Given the description of an element on the screen output the (x, y) to click on. 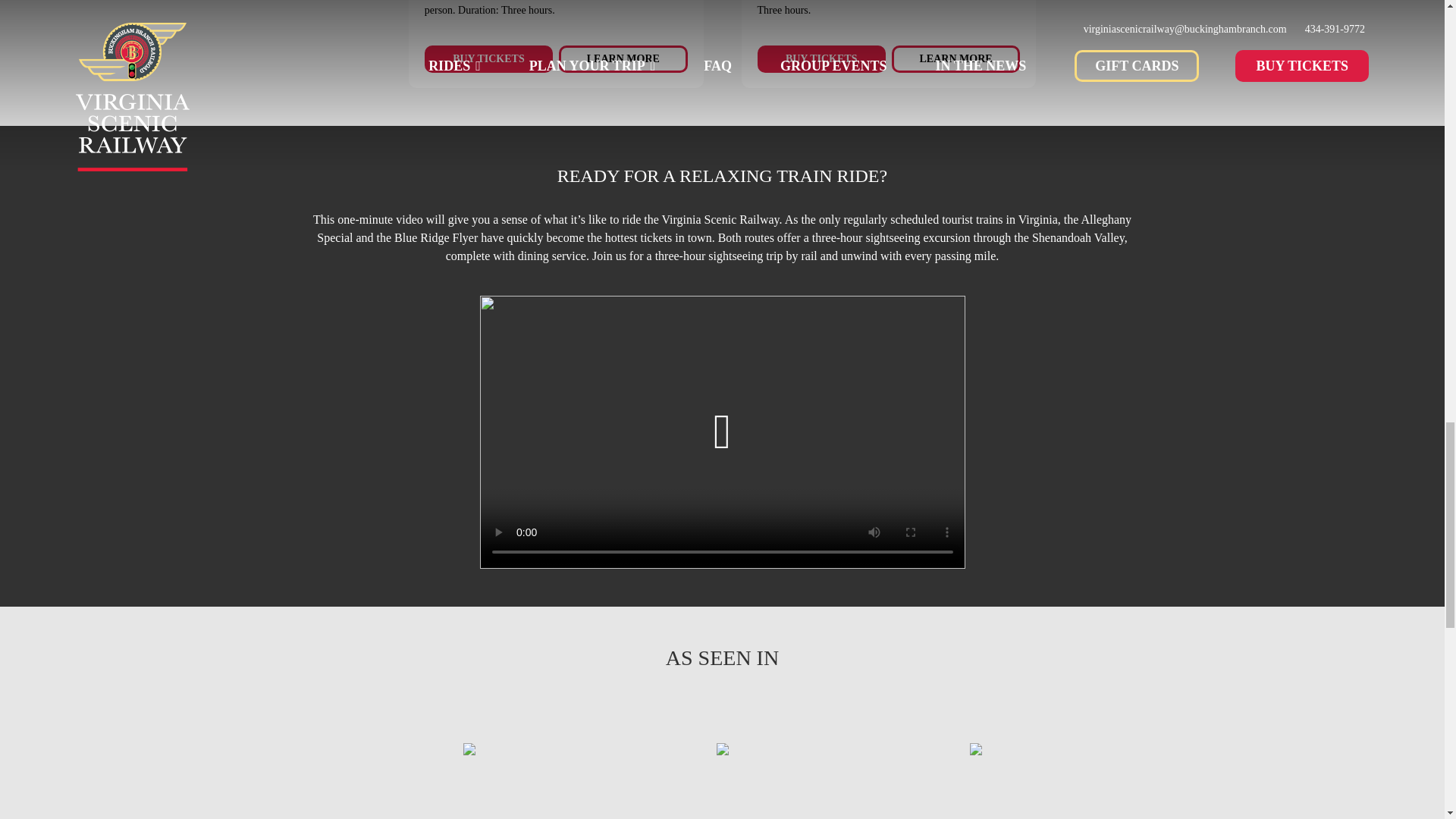
BUY TICKETS (489, 58)
LEARN MORE (955, 58)
BUY TICKETS (821, 58)
LEARN MORE (623, 58)
